Given the description of an element on the screen output the (x, y) to click on. 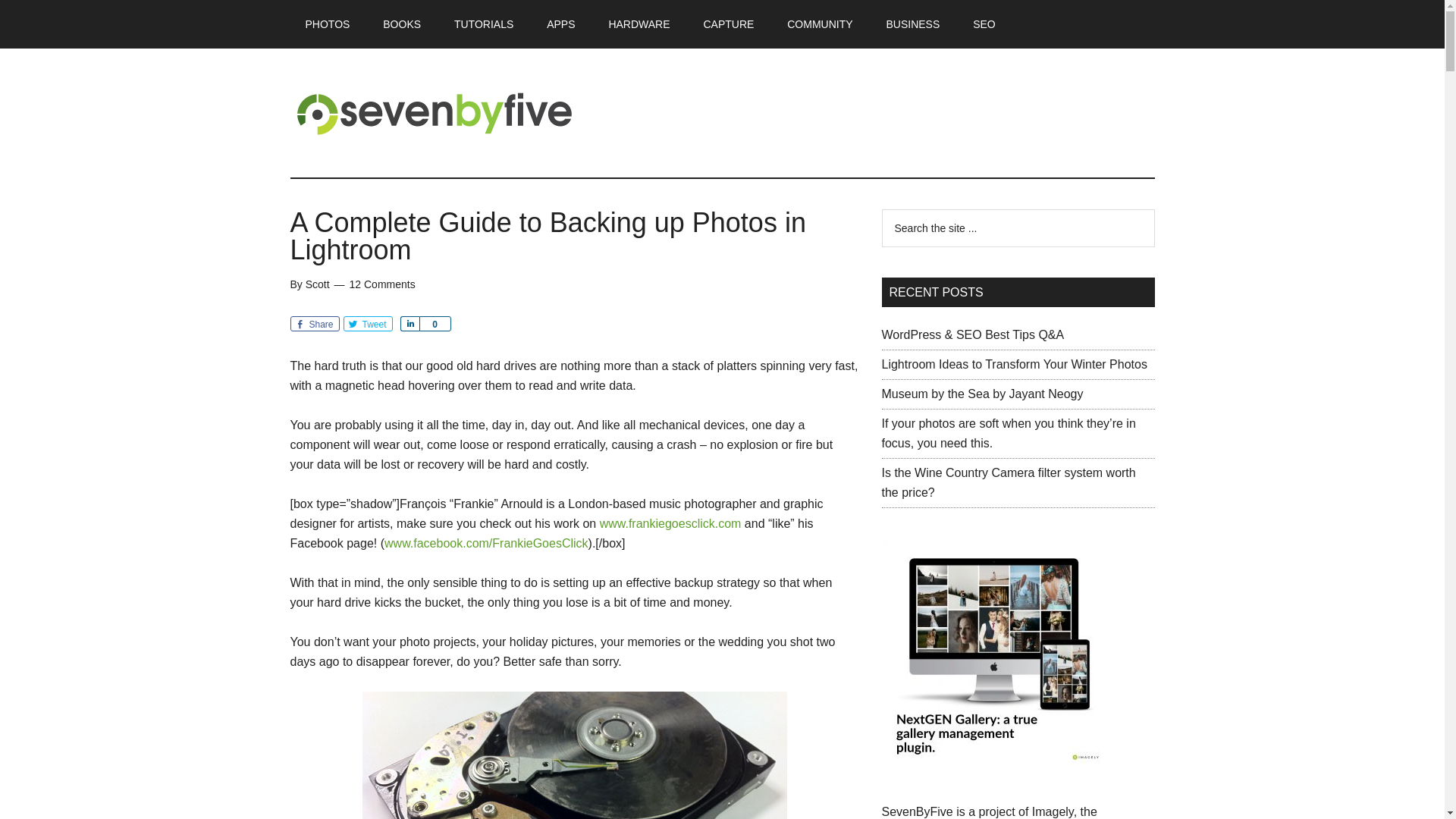
Scott (317, 284)
BOOKS (401, 24)
Share (409, 323)
COMMUNITY (819, 24)
SEO (984, 24)
12 Comments (381, 284)
0 (434, 323)
TUTORIALS (483, 24)
